Given the description of an element on the screen output the (x, y) to click on. 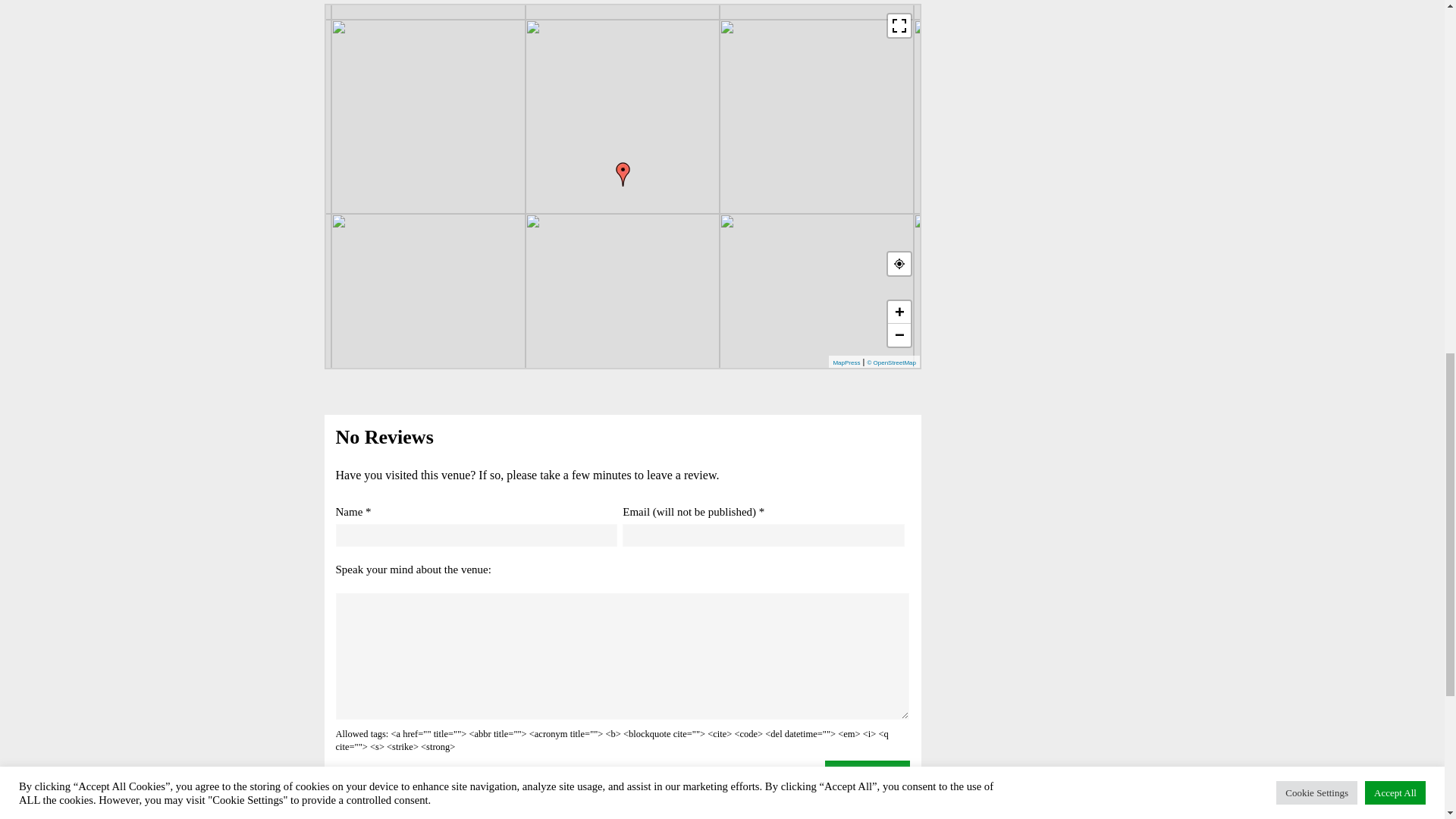
Submit Review (867, 772)
Submit Review (867, 772)
Toggle fullscreen view (899, 25)
Advertisement (1027, 56)
Your Location (899, 263)
MapPress (846, 362)
